Given the description of an element on the screen output the (x, y) to click on. 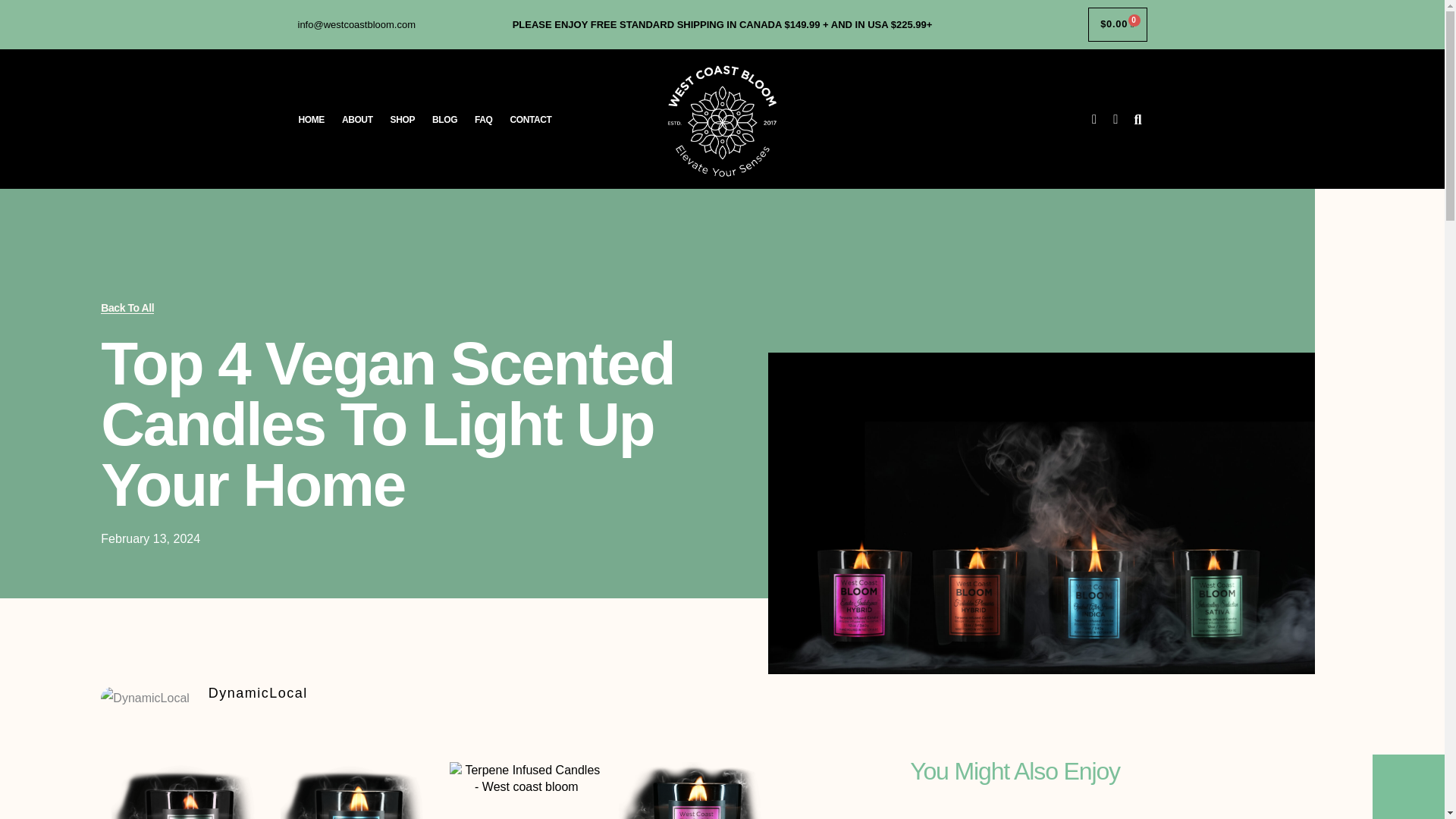
BLOG (444, 119)
CONTACT (531, 119)
HOME (310, 119)
SHOP (402, 119)
ABOUT (357, 119)
Back To All (127, 307)
FAQ (482, 119)
